Given the description of an element on the screen output the (x, y) to click on. 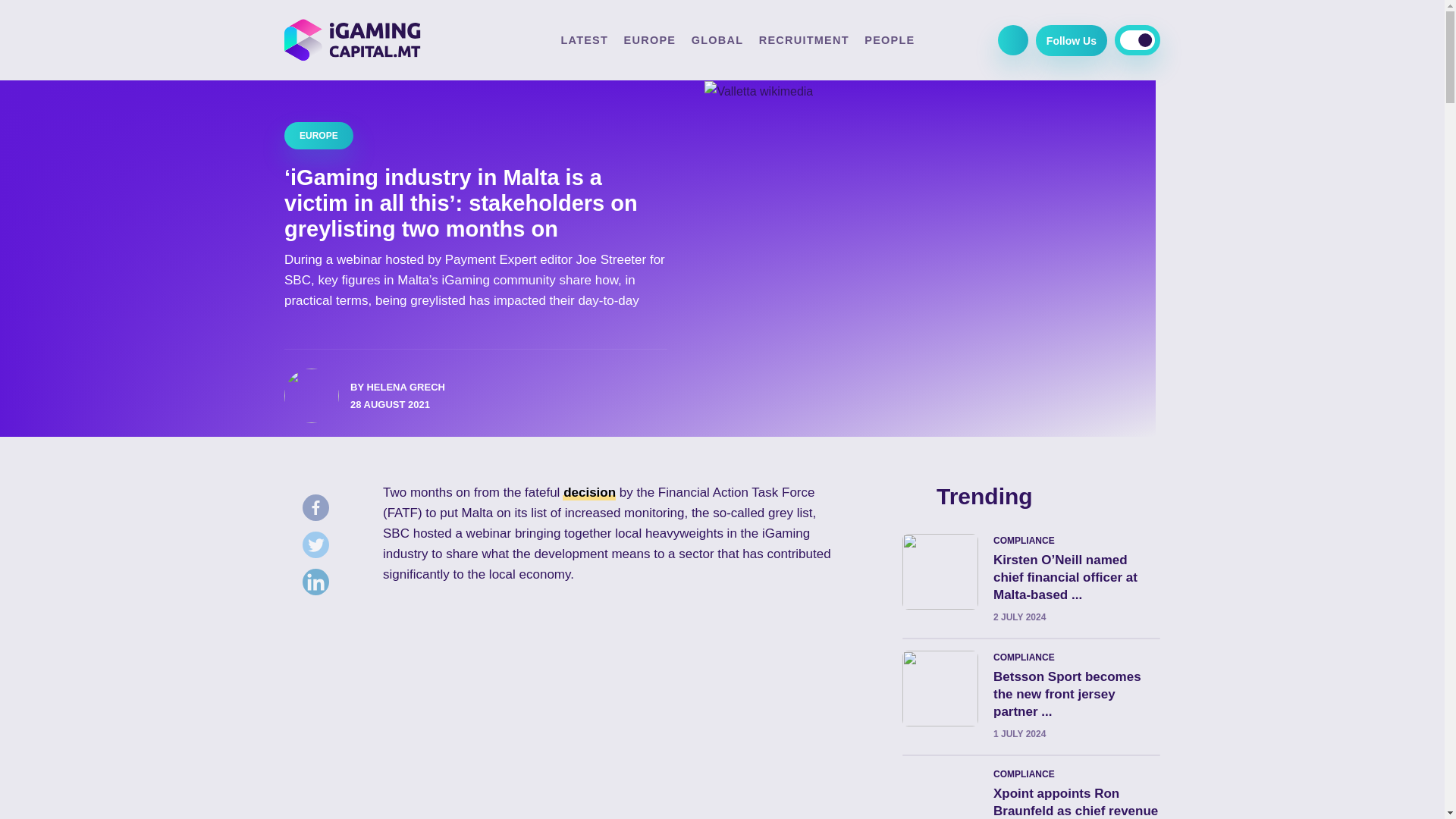
EUROPE (318, 135)
Linkedin (319, 585)
Twitter (319, 548)
EUROPE (650, 39)
Facebook (319, 511)
COMPLIANCE (1076, 540)
PEOPLE (889, 39)
COMPLIANCE (1076, 774)
decision (589, 492)
Betsson Sport becomes the new front jersey partner ... (1066, 694)
RECRUITMENT (803, 39)
GLOBAL (717, 39)
LATEST (584, 39)
COMPLIANCE (1076, 657)
